Given the description of an element on the screen output the (x, y) to click on. 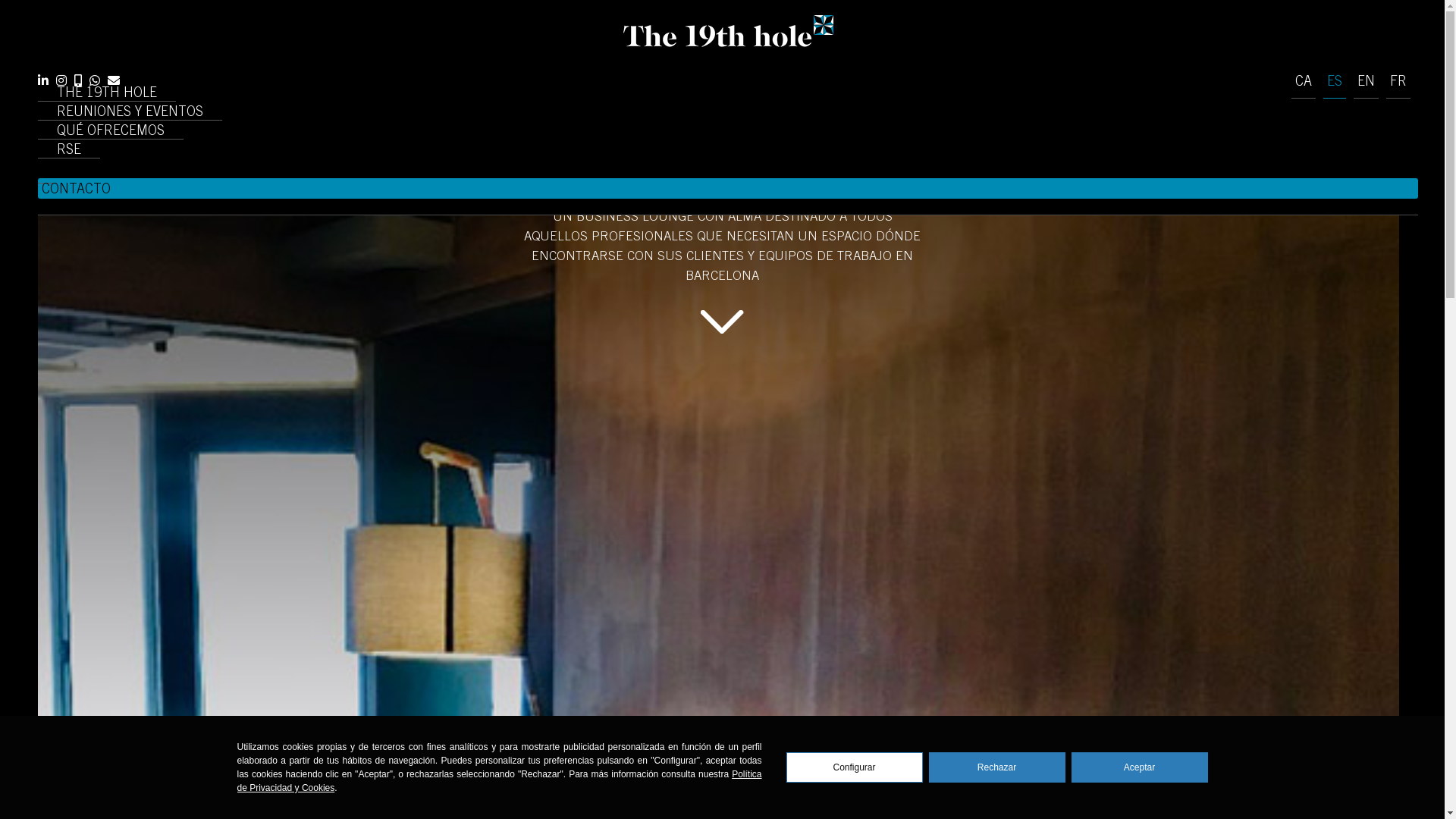
CA Element type: text (1303, 86)
EN Element type: text (1365, 86)
Rechazar Element type: text (996, 767)
THE 19TH HOLE Element type: text (106, 94)
Configurar Element type: text (853, 767)
REUNIONES Y EVENTOS Element type: text (129, 113)
FR Element type: text (1398, 86)
CONTACTO Element type: text (727, 189)
ES Element type: text (1334, 86)
Aceptar Element type: text (1138, 767)
RSE Element type: text (68, 151)
